Given the description of an element on the screen output the (x, y) to click on. 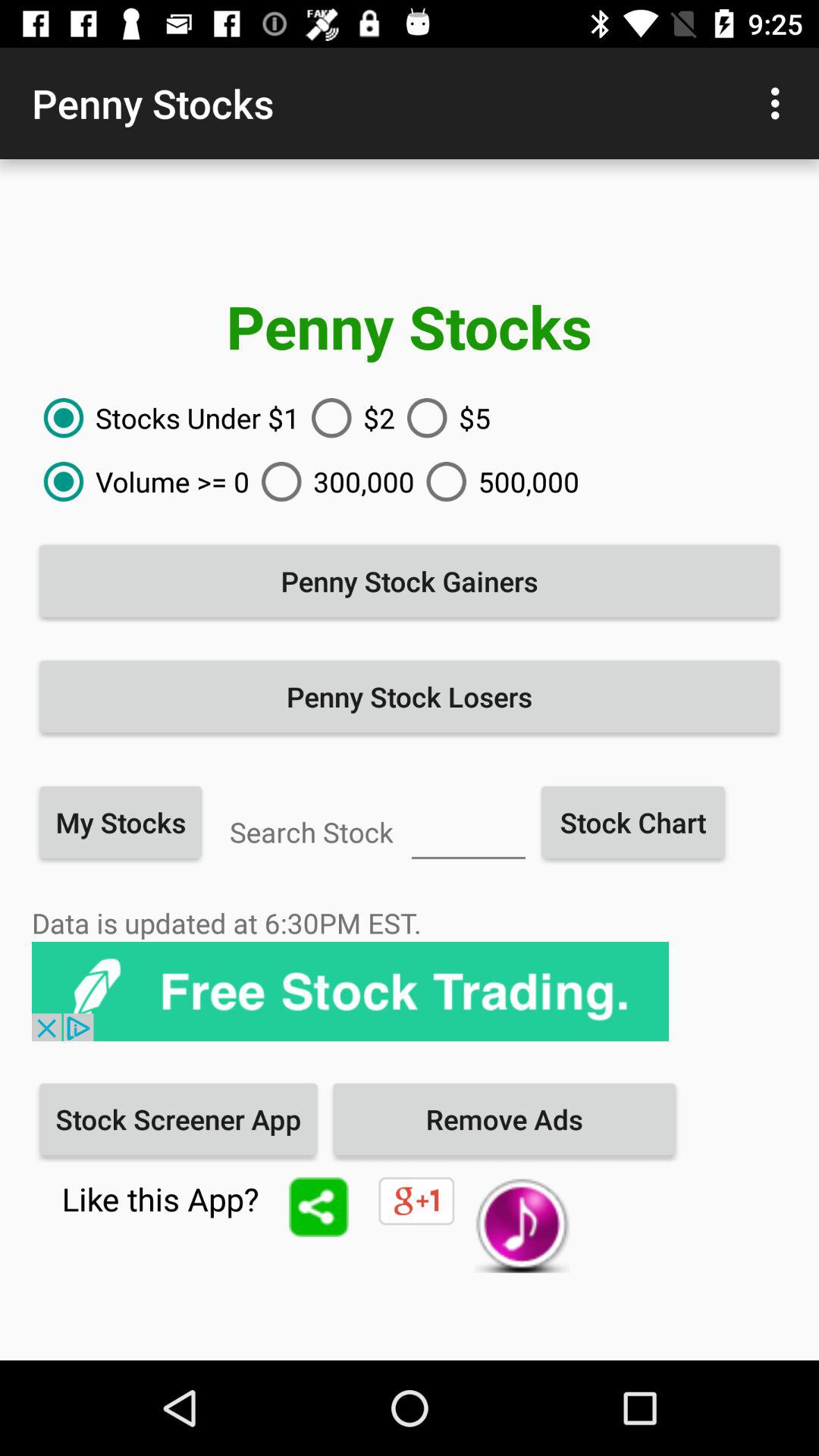
choose item next to the like this app? (318, 1207)
